Given the description of an element on the screen output the (x, y) to click on. 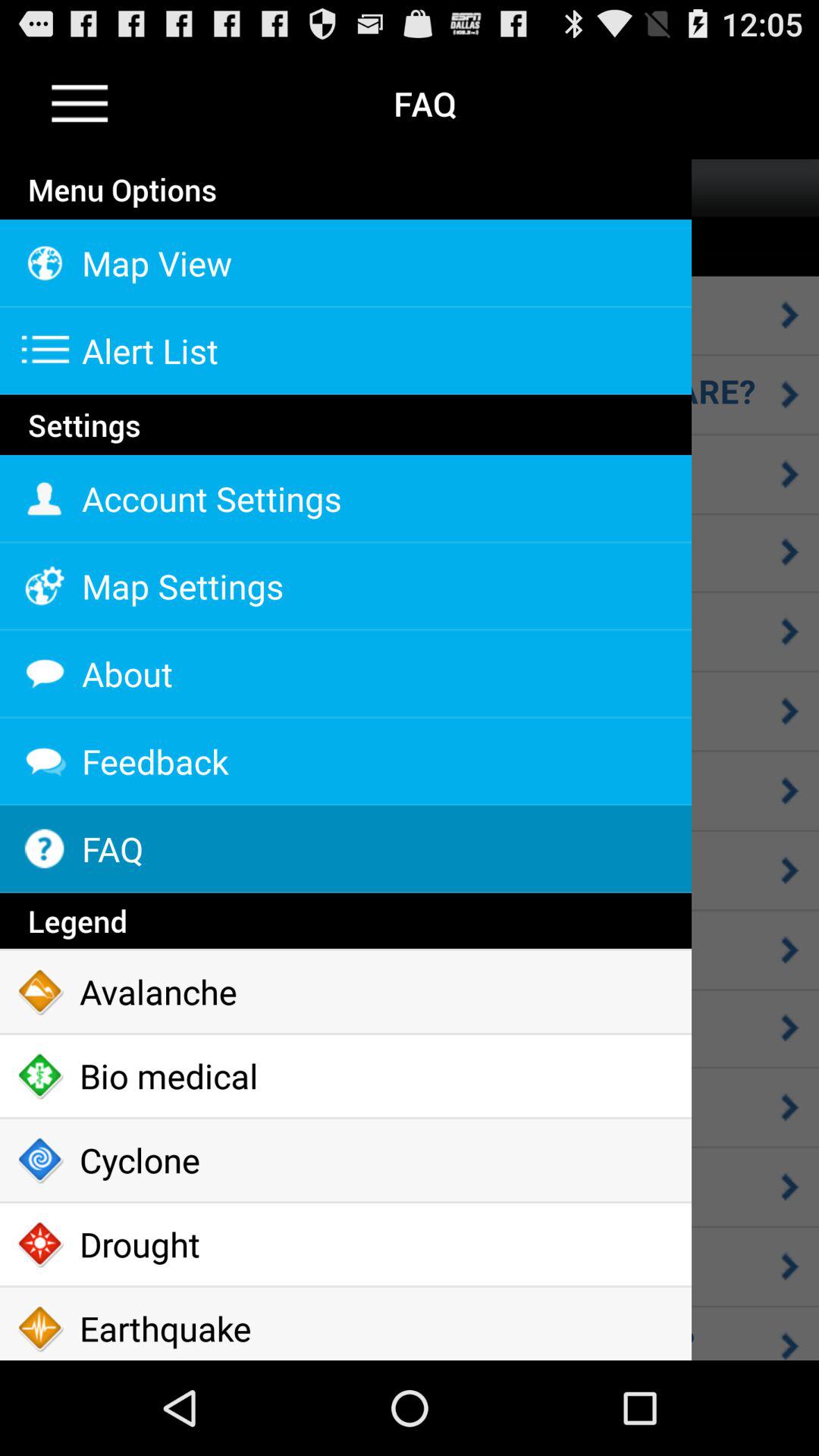
swipe until map settings item (345, 586)
